Given the description of an element on the screen output the (x, y) to click on. 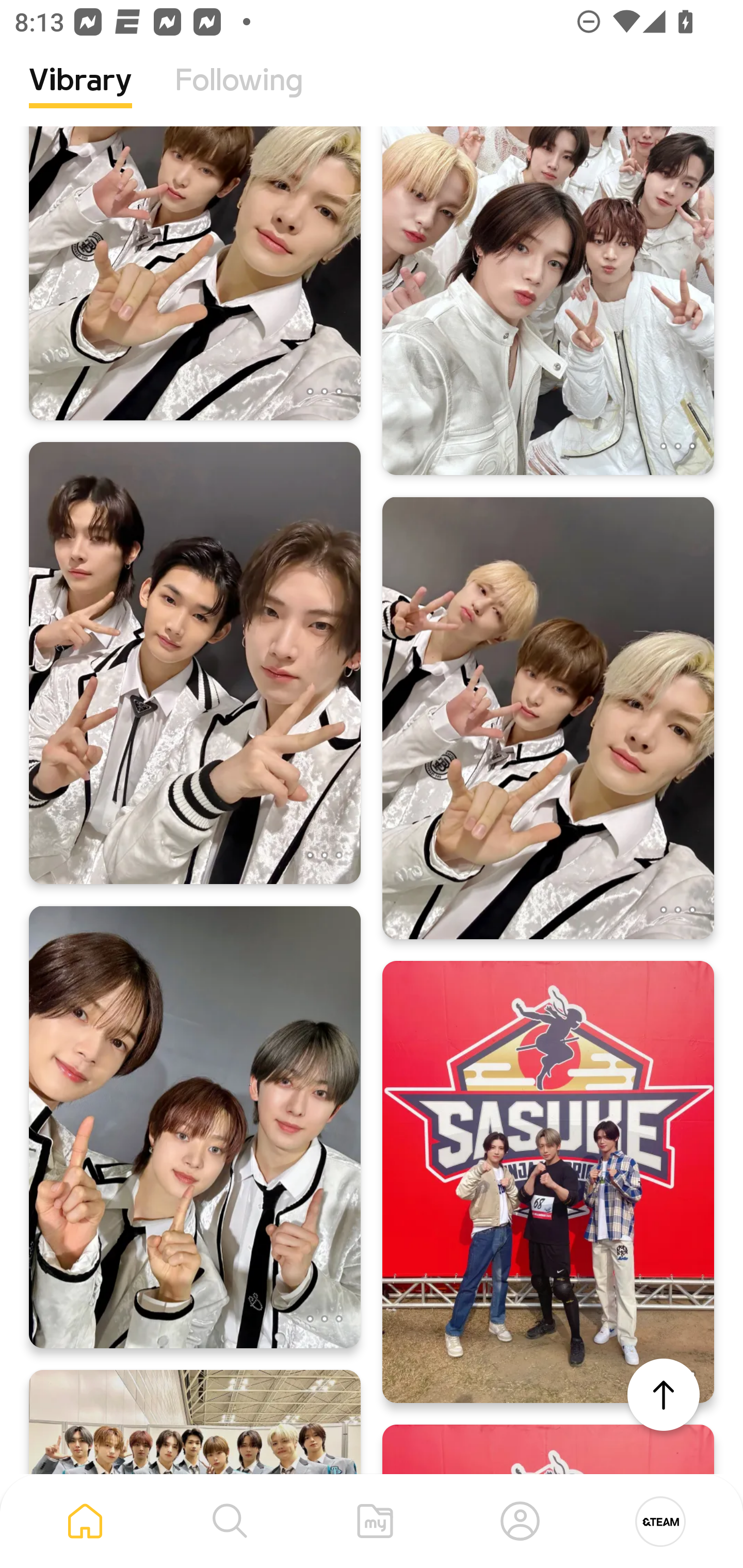
Vibrary (80, 95)
Following (239, 95)
